Given the description of an element on the screen output the (x, y) to click on. 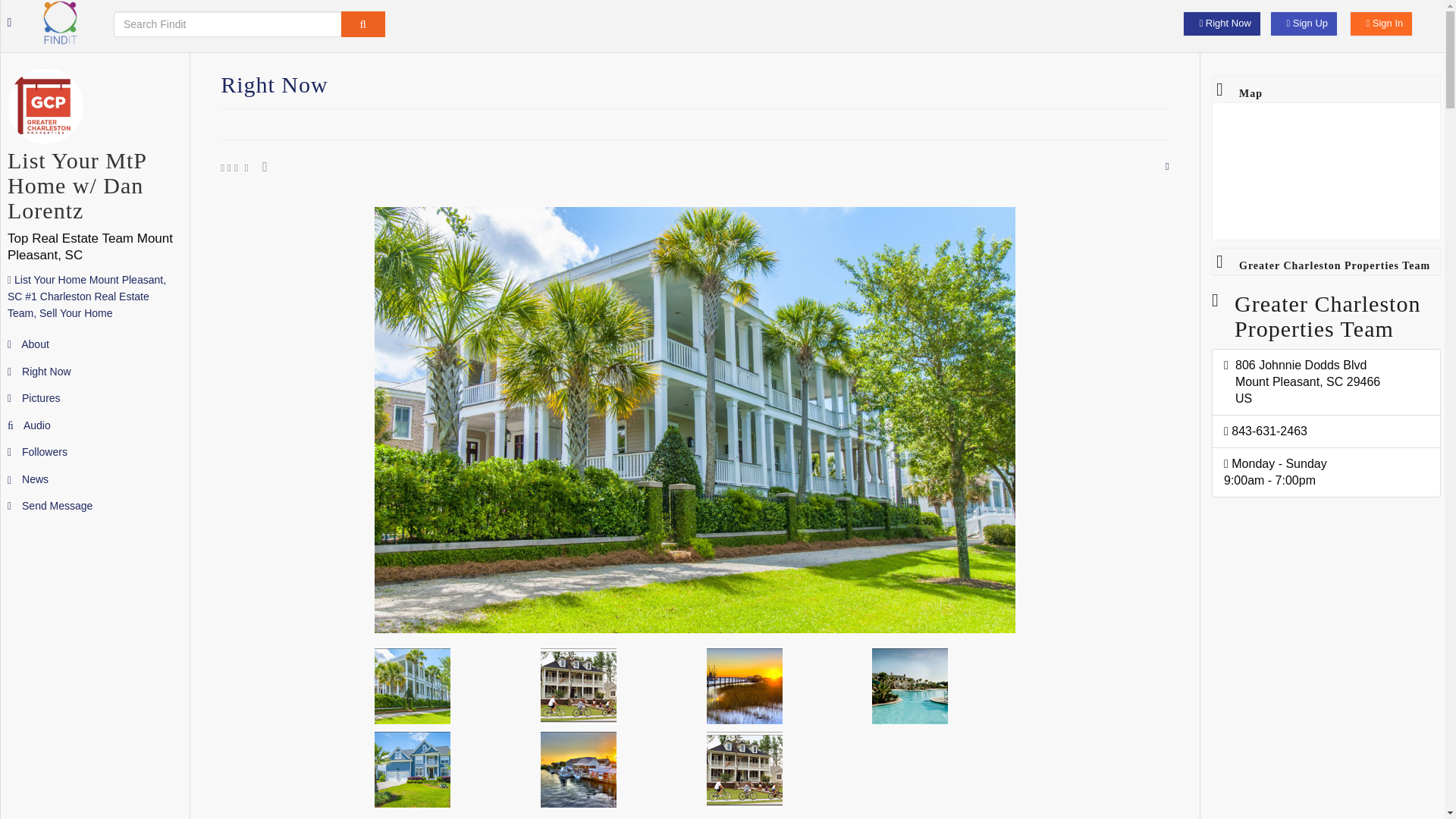
Mount Pleasant Real Estate by Greater Charleston Group (778, 685)
Park West in Mount Pleasant SC (778, 769)
Sign In (1380, 23)
Mount Pleasant Real Estate by Greater Charleston Group (943, 685)
Audio (28, 424)
Right Now (1221, 23)
Park West in Mount Pleasant SC (612, 685)
Sign Up (1303, 23)
Mount Pleasant Real Estate by Greater Charleston Group (446, 769)
Followers (36, 451)
Right Now (39, 371)
About (28, 344)
Mount Pleasant Real Estate by Greater Charleston Group (446, 685)
Pictures (34, 398)
